Given the description of an element on the screen output the (x, y) to click on. 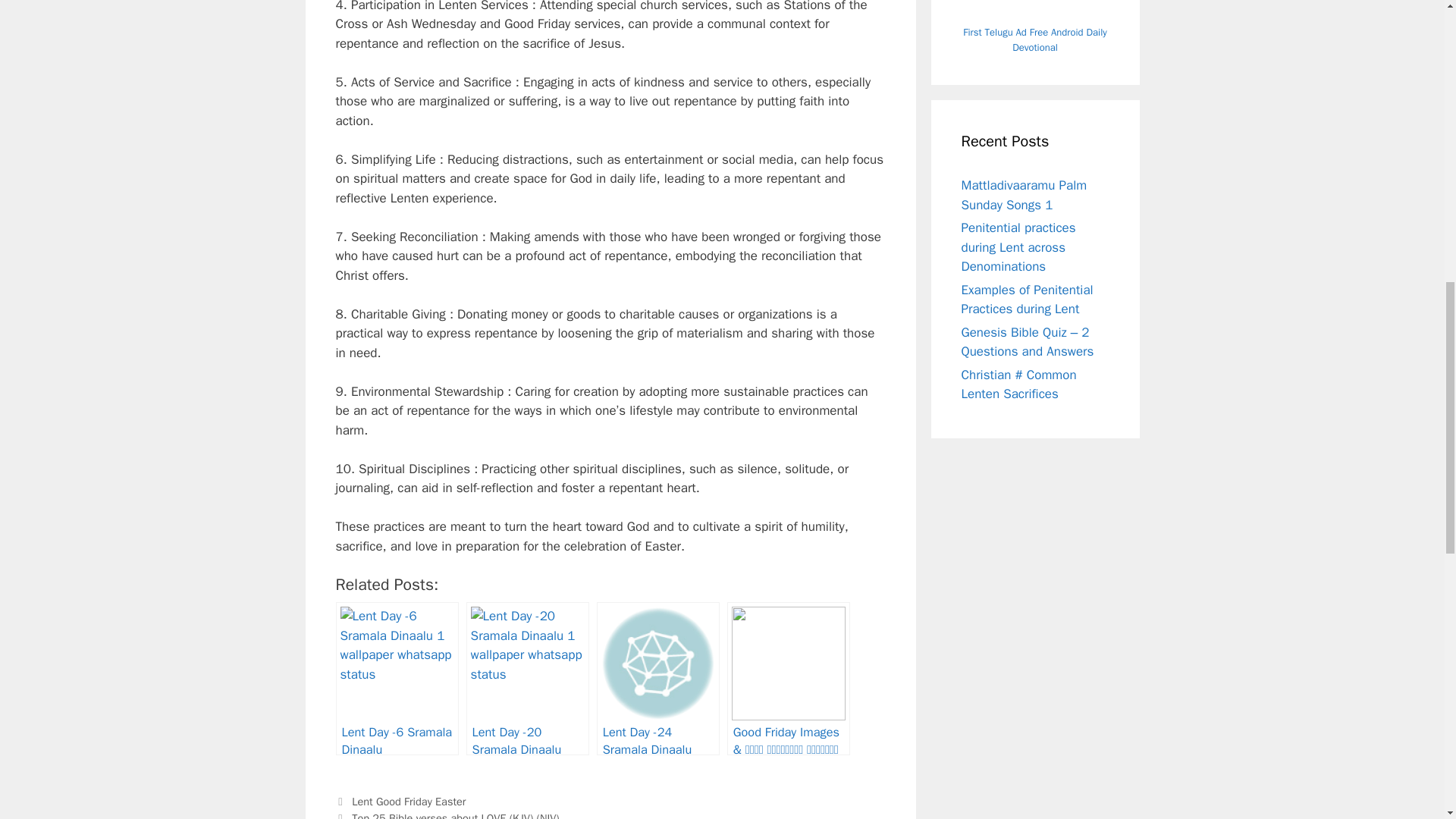
Examples of Penitential Practices during Lent (1026, 299)
Lent Good Friday Easter (408, 801)
Penitential practices during Lent across Denominations (1017, 247)
Mattladivaaramu Palm Sunday Songs 1 (1023, 194)
First Telugu Ad Free Android Daily Devotional (1034, 39)
